Given the description of an element on the screen output the (x, y) to click on. 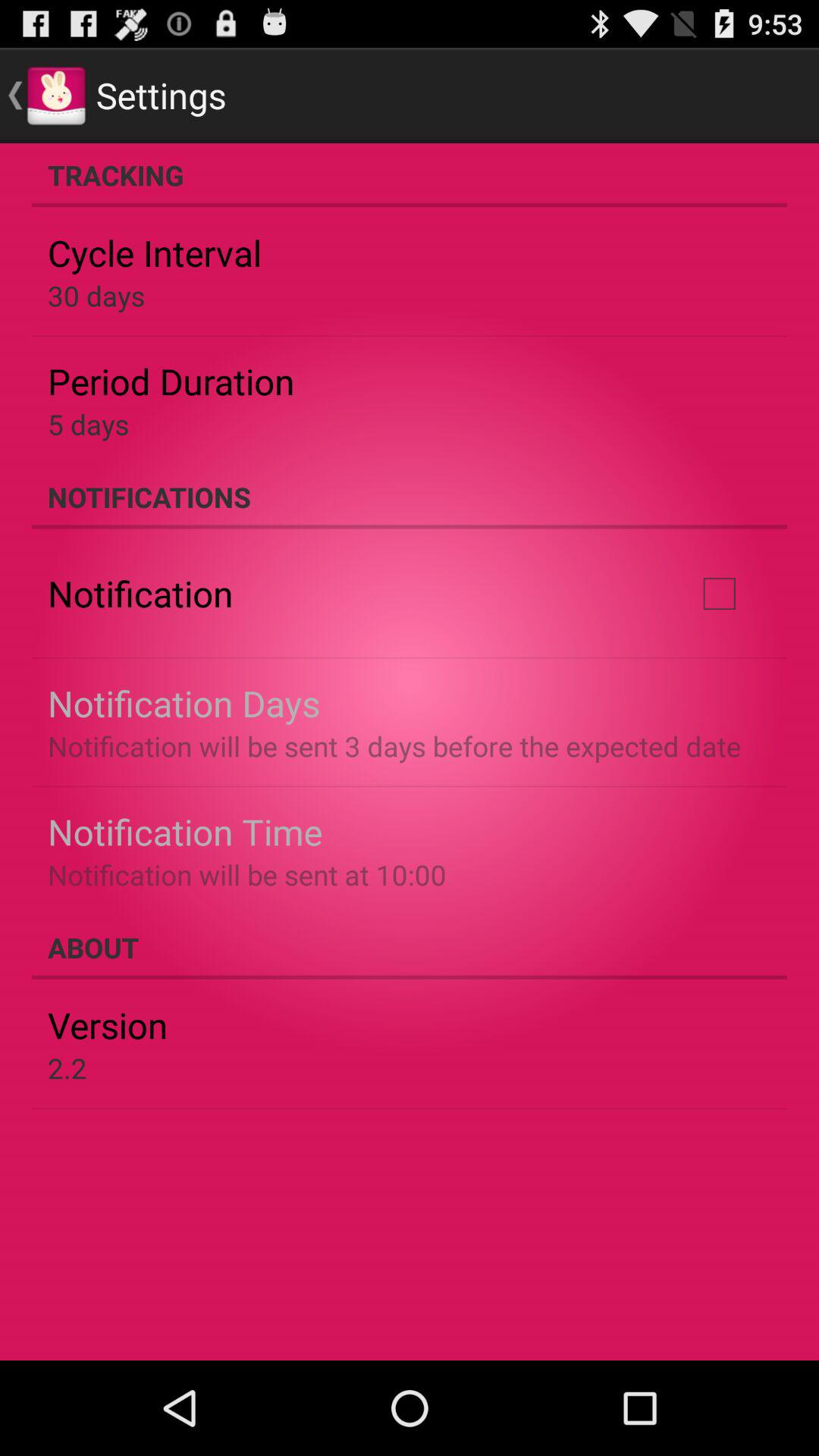
open item to the right of notification (719, 593)
